Given the description of an element on the screen output the (x, y) to click on. 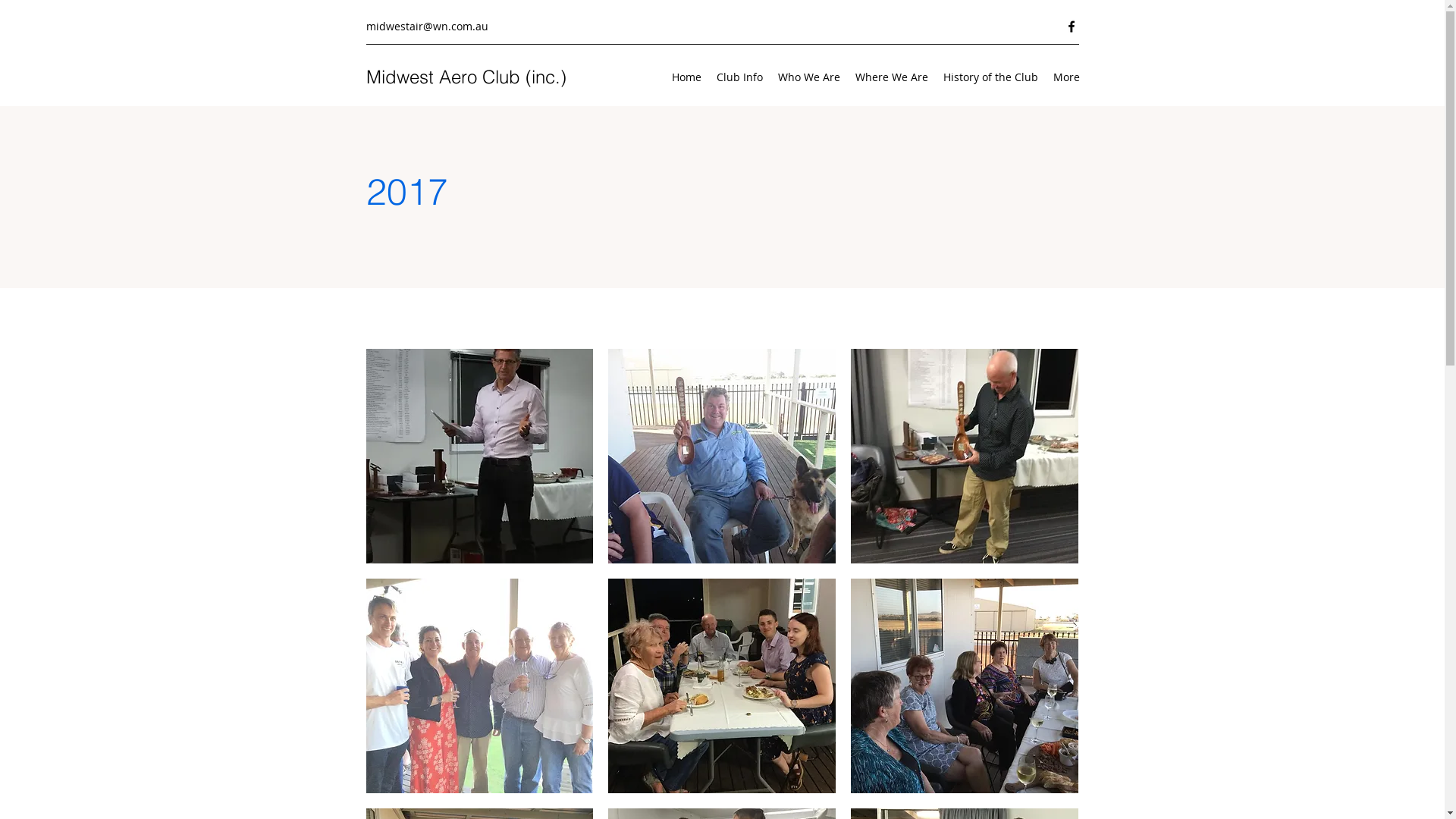
Who We Are Element type: text (808, 76)
Home Element type: text (686, 76)
midwestair@wn.com.au Element type: text (426, 25)
Where We Are Element type: text (891, 76)
Club Info Element type: text (738, 76)
History of the Club Element type: text (990, 76)
